Given the description of an element on the screen output the (x, y) to click on. 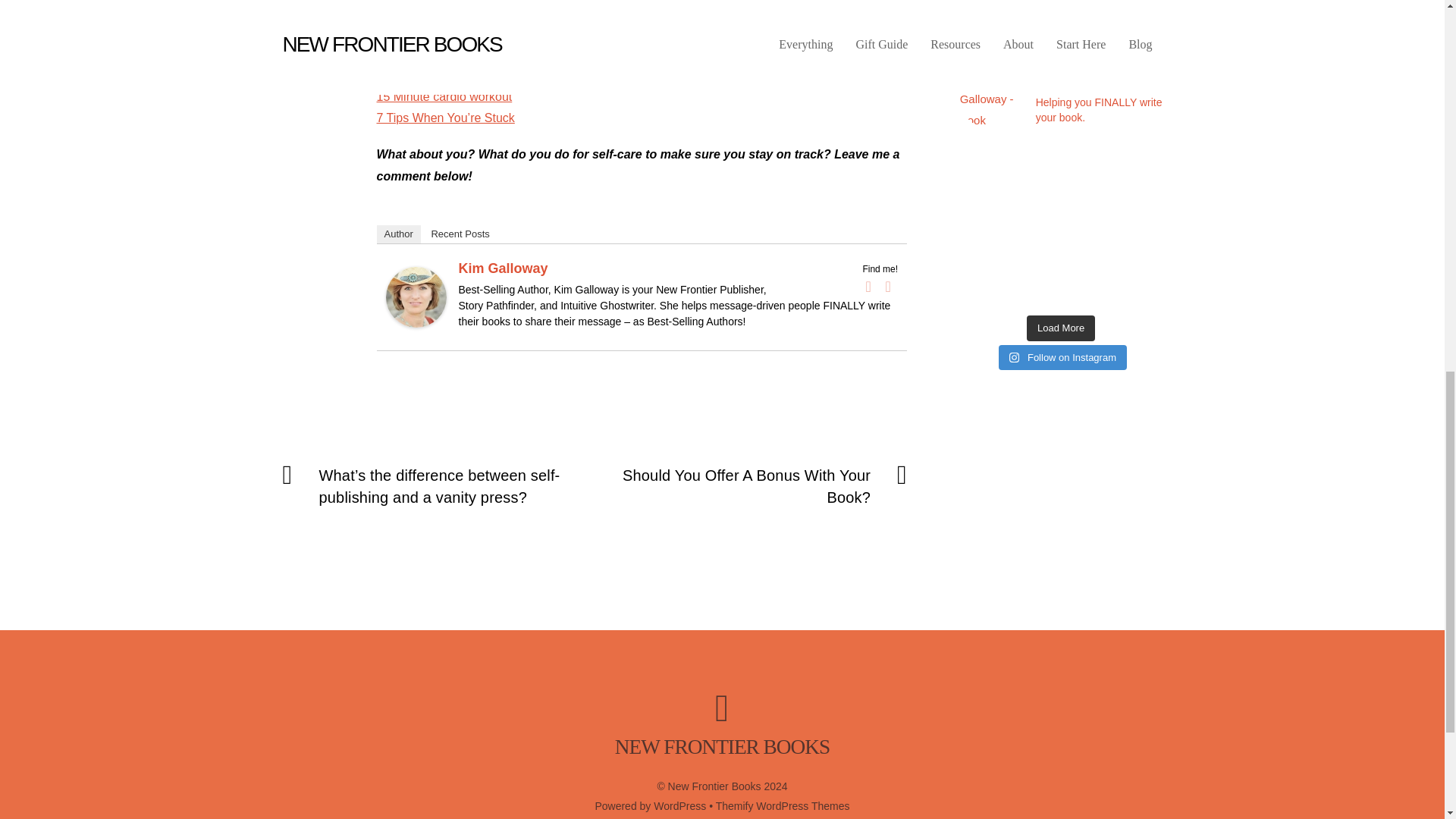
Should You Offer A Bonus With Your Book? (759, 486)
Author (397, 234)
Facebook (868, 286)
5 Simple healthy foods to boost your brain power! (508, 51)
New Frontier Books (721, 746)
Kim Galloway (415, 323)
Twitter (887, 286)
Recent Posts (459, 234)
15 Minute cardio workout (443, 96)
Kim Galloway (502, 268)
